Given the description of an element on the screen output the (x, y) to click on. 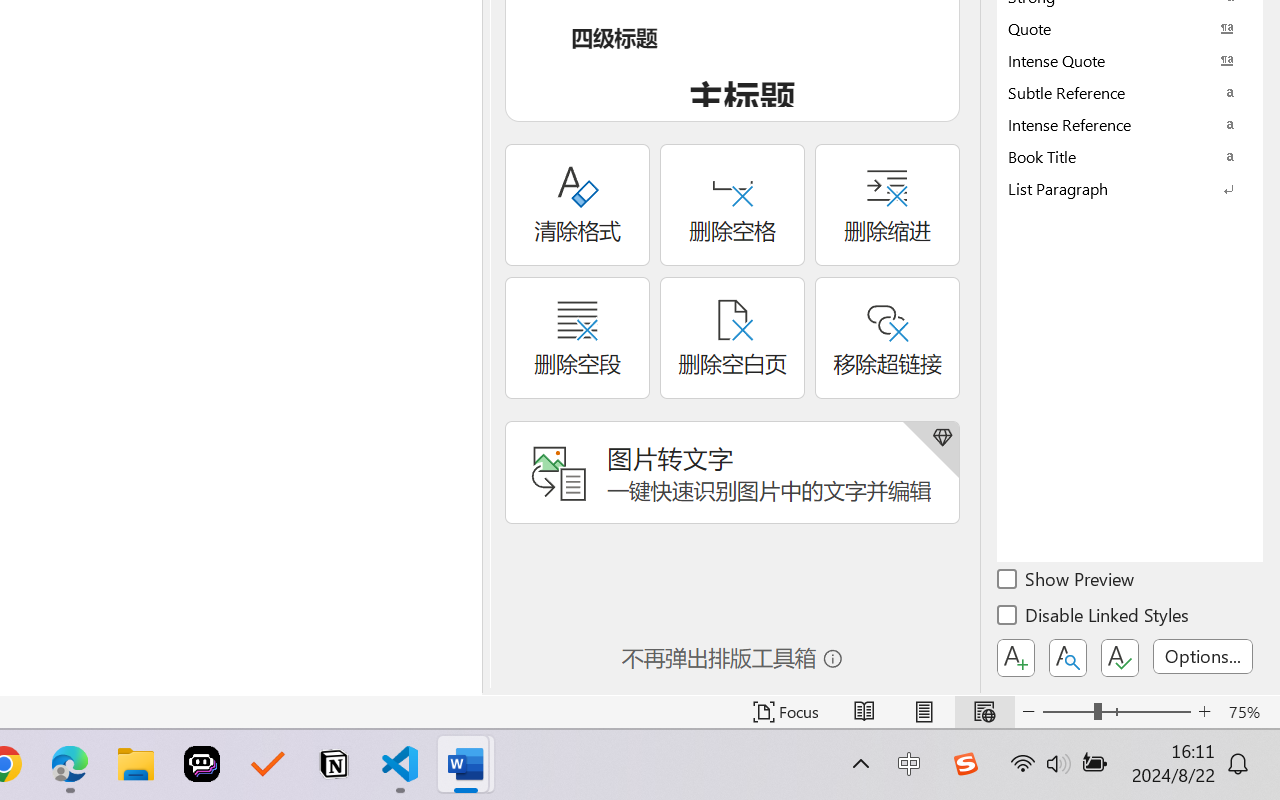
Class: NetUIButton (1119, 657)
Zoom In (1204, 712)
Zoom Out (1067, 712)
Class: NetUIImage (1116, 188)
Subtle Reference (1130, 92)
Quote (1130, 28)
